Given the description of an element on the screen output the (x, y) to click on. 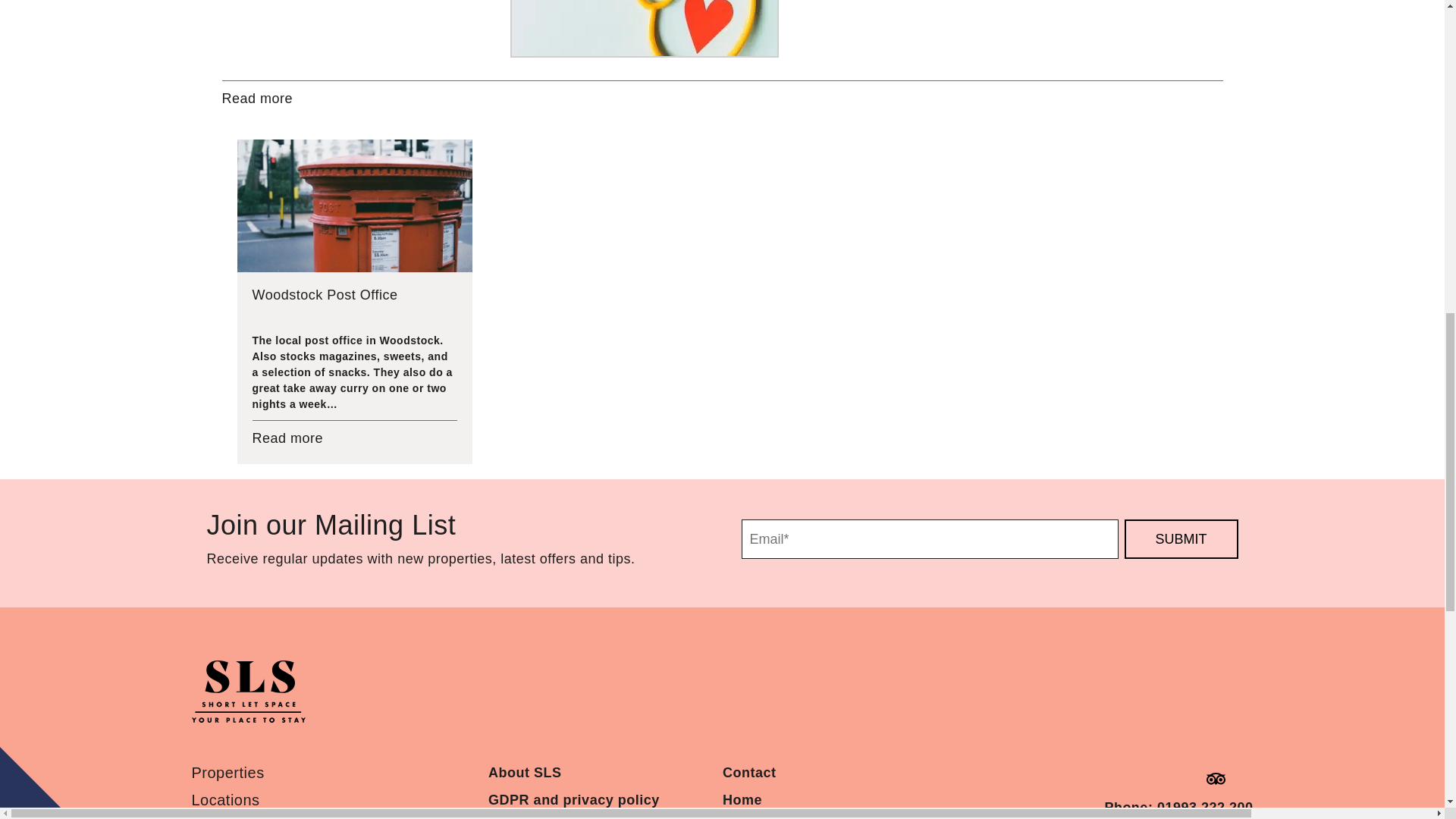
Submit (1180, 538)
Short Let Space (247, 694)
Submit (1180, 538)
